Given the description of an element on the screen output the (x, y) to click on. 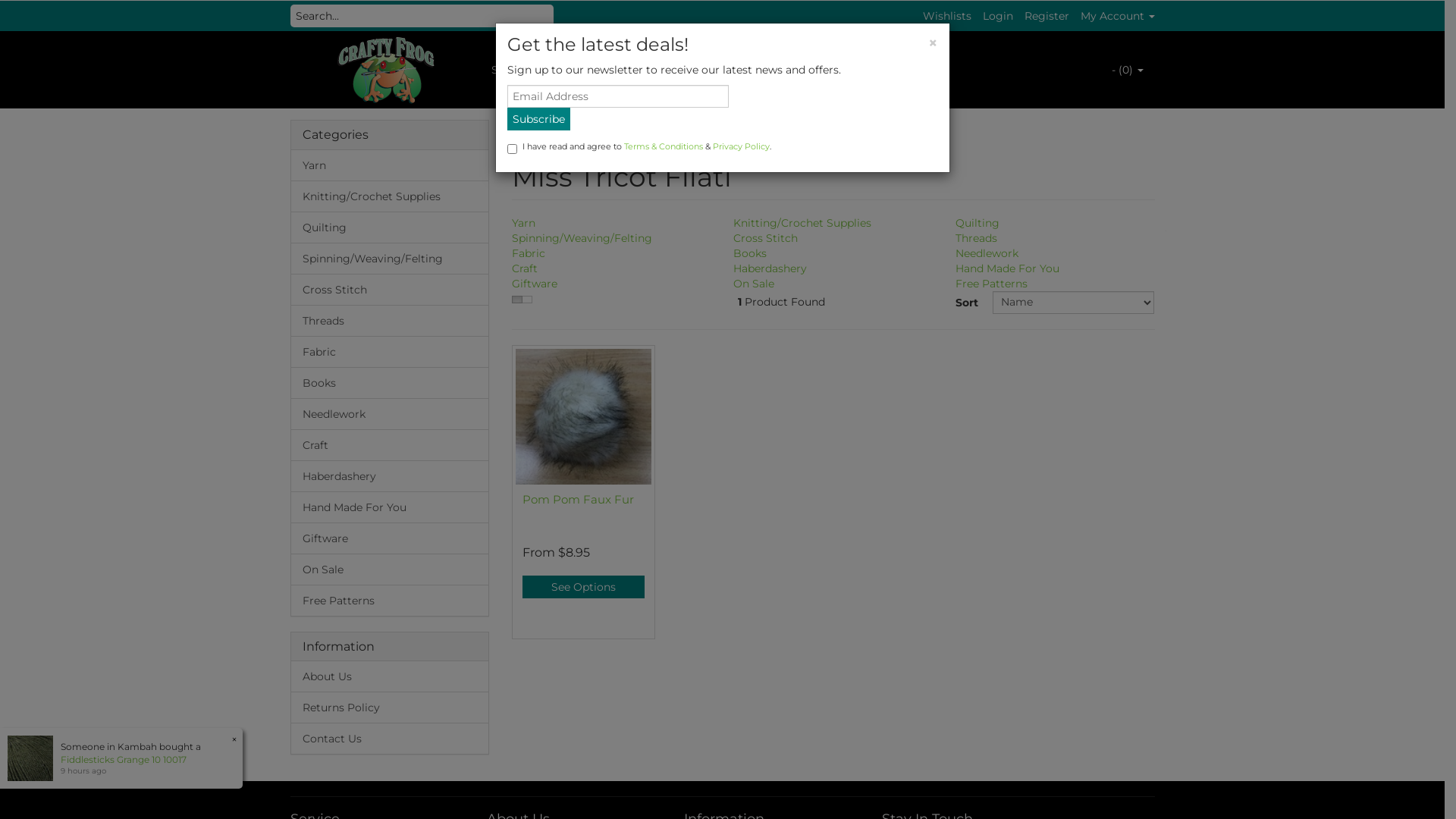
Subscribe Element type: text (537, 118)
Fabric Element type: text (390, 351)
Products Element type: text (634, 69)
Craft Element type: text (524, 268)
SALE! Element type: text (505, 69)
Terms & Conditions Element type: text (662, 146)
See Options Element type: text (583, 586)
Miss Tricot Filati Element type: text (616, 133)
Privacy Policy Element type: text (740, 146)
Hand Made For You Element type: text (390, 506)
Haberdashery Element type: text (769, 268)
Giftware Element type: text (390, 537)
Quilting Element type: text (977, 222)
FAQs Element type: text (915, 69)
Yarn Element type: text (390, 165)
Free Patterns Element type: text (390, 600)
Knitting/Crochet Supplies Element type: text (802, 222)
Wishlists Element type: text (946, 15)
- (0) Element type: text (1126, 69)
Craft Element type: text (390, 445)
Books Element type: text (390, 382)
Home Element type: text (539, 133)
Giftware Element type: text (534, 283)
Hand Made For You Element type: text (1007, 268)
Quilting Element type: text (390, 227)
About Us Element type: text (390, 676)
Search Element type: text (557, 15)
Cross Stitch Element type: text (765, 237)
Gift Voucher Element type: text (714, 69)
Needlework Element type: text (390, 413)
Returns Policy Element type: text (390, 706)
Register Element type: text (1045, 15)
Free Patterns Element type: text (991, 283)
Pom Pom Faux Fur Element type: text (577, 499)
Threads Element type: text (390, 320)
Yarn Element type: text (523, 222)
Login Element type: text (997, 15)
Books Element type: text (749, 253)
Haberdashery Element type: text (390, 476)
Spinning/Weaving/Felting Element type: text (390, 258)
Threads Element type: text (976, 237)
Knitting/Crochet Supplies Element type: text (390, 196)
On Sale Element type: text (753, 283)
Blog Element type: text (783, 69)
Fabric Element type: text (528, 253)
Needlework Element type: text (986, 253)
Spinning/Weaving/Felting Element type: text (581, 237)
My Account Element type: text (1116, 15)
Contact Us Element type: text (390, 737)
Contact Us Element type: text (849, 69)
Quilting Element type: text (565, 69)
On Sale Element type: text (390, 569)
Cross Stitch Element type: text (390, 289)
